Given the description of an element on the screen output the (x, y) to click on. 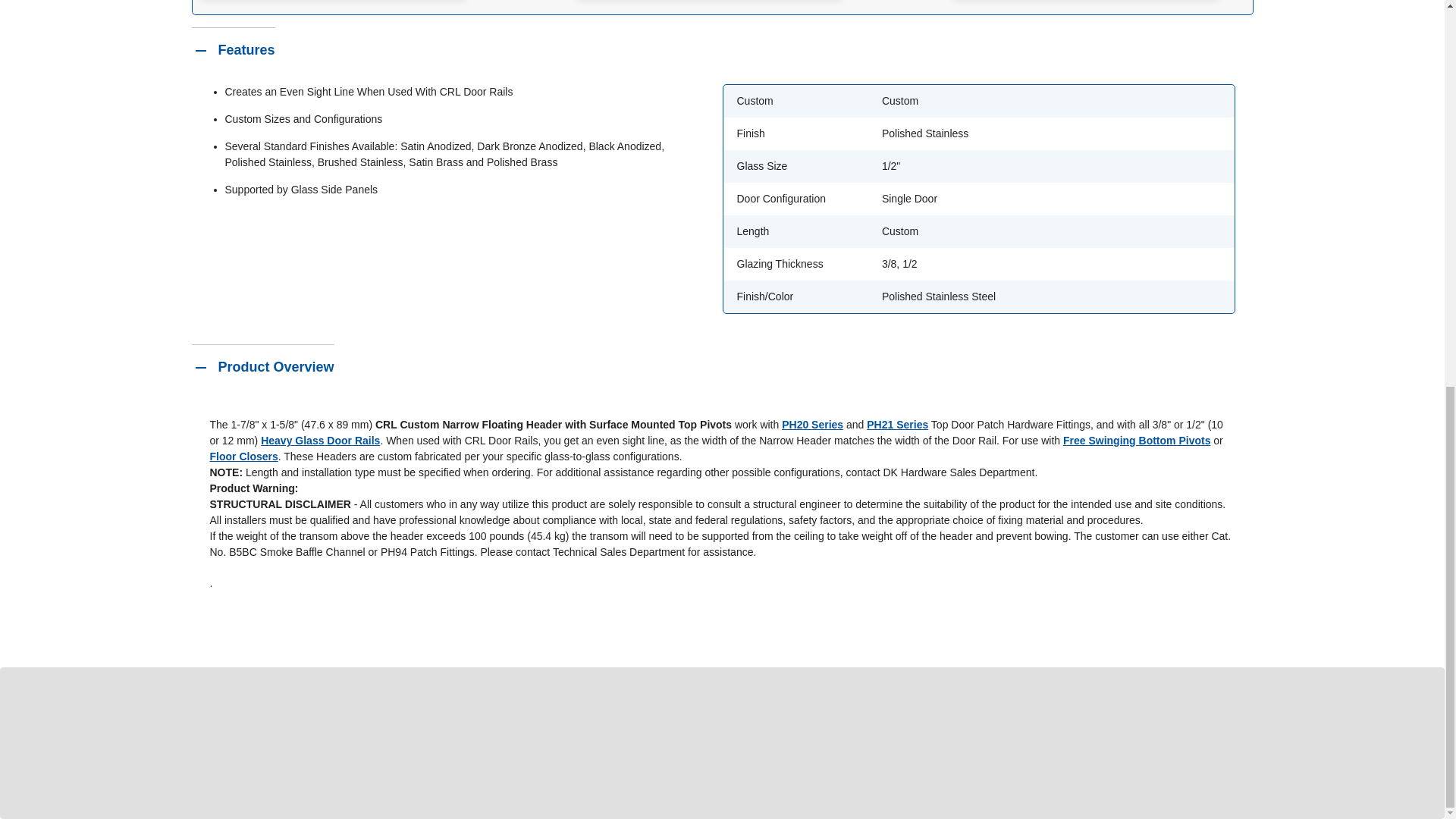
PH20 Series (812, 424)
PH21 Series (897, 424)
Free Swinging Bottom Pivots (1135, 440)
Features (232, 49)
Floor Closers (243, 456)
Heavy Glass Door Rails (320, 440)
Product Overview (261, 366)
